Given the description of an element on the screen output the (x, y) to click on. 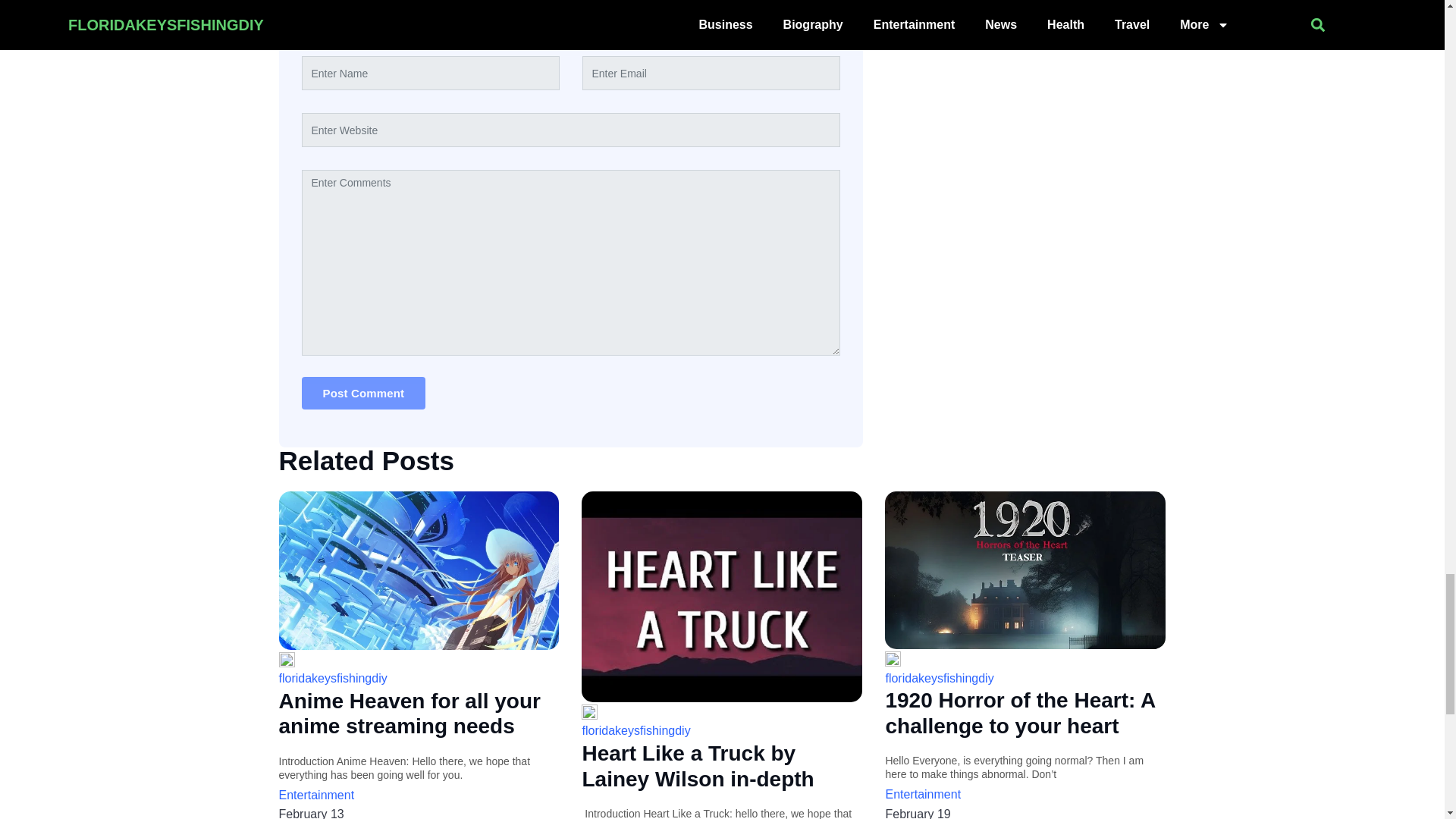
Post Comment (363, 392)
